Given the description of an element on the screen output the (x, y) to click on. 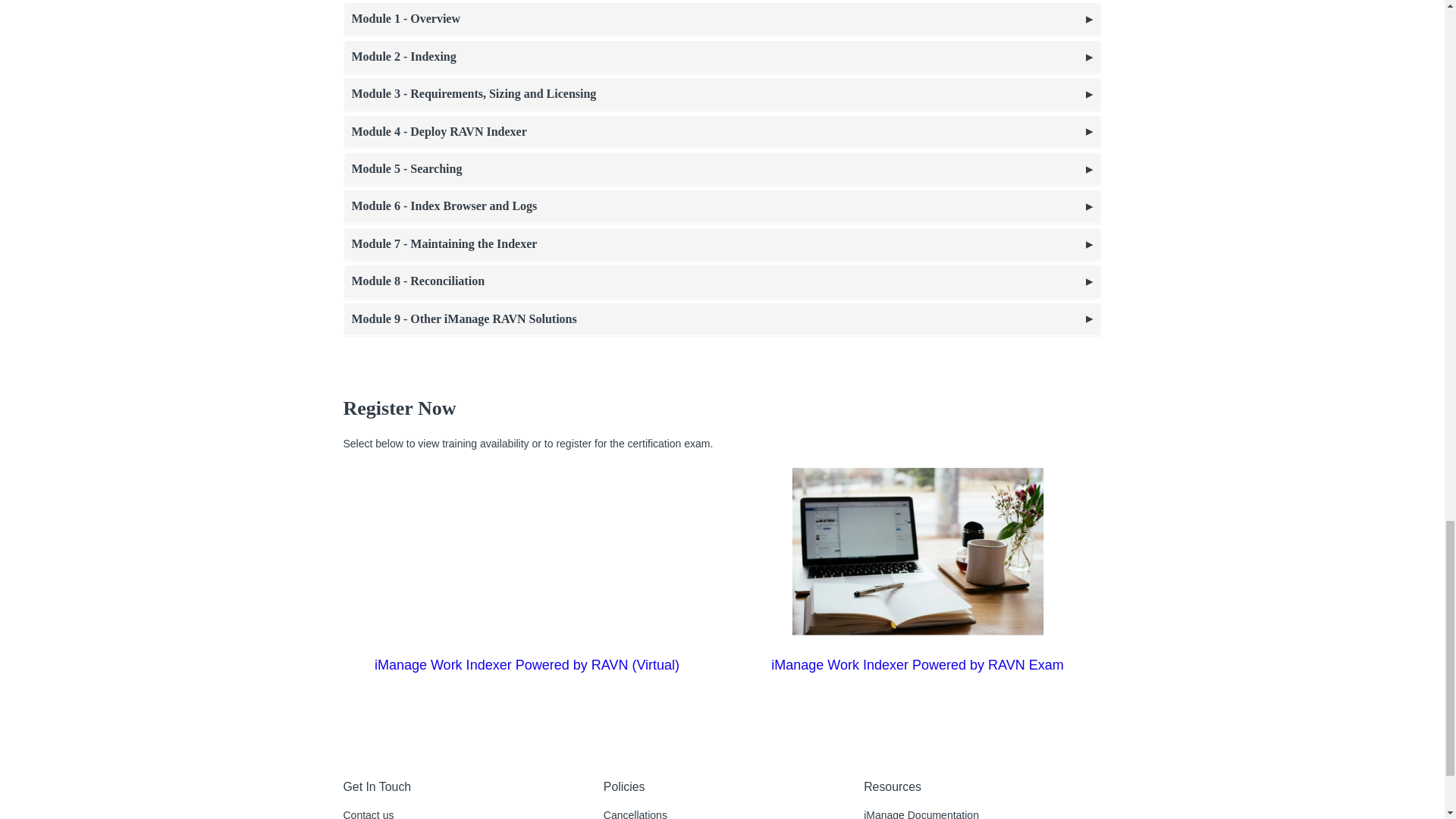
iManage Documentation (920, 814)
iManage Work Indexer Powered by RAVN Exam (917, 664)
Cancellations (635, 814)
Contact us (367, 814)
